Given the description of an element on the screen output the (x, y) to click on. 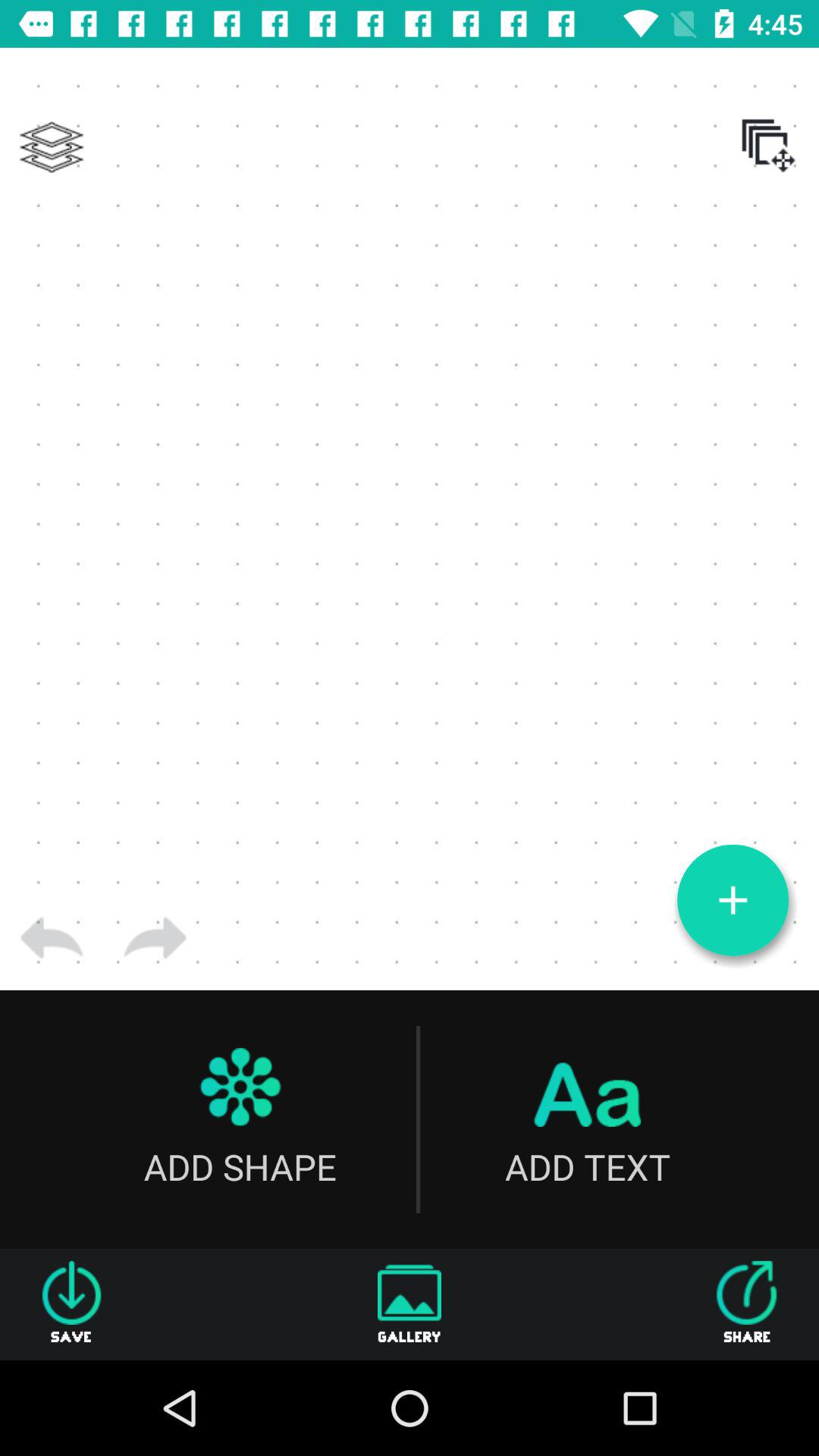
turn on icon next to the save icon (409, 1304)
